Given the description of an element on the screen output the (x, y) to click on. 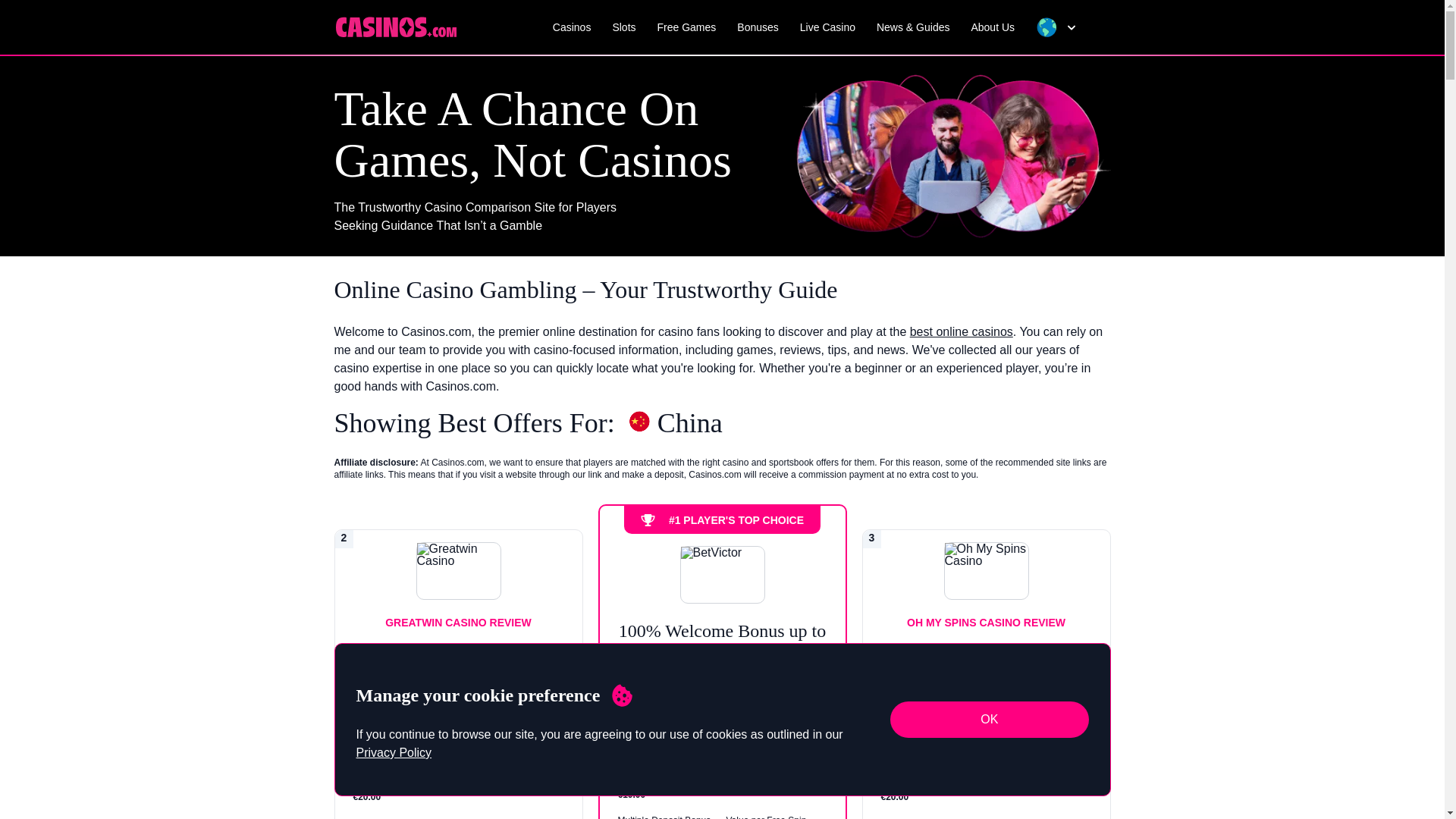
Free Games (687, 27)
Casinos.com Home (395, 26)
